Given the description of an element on the screen output the (x, y) to click on. 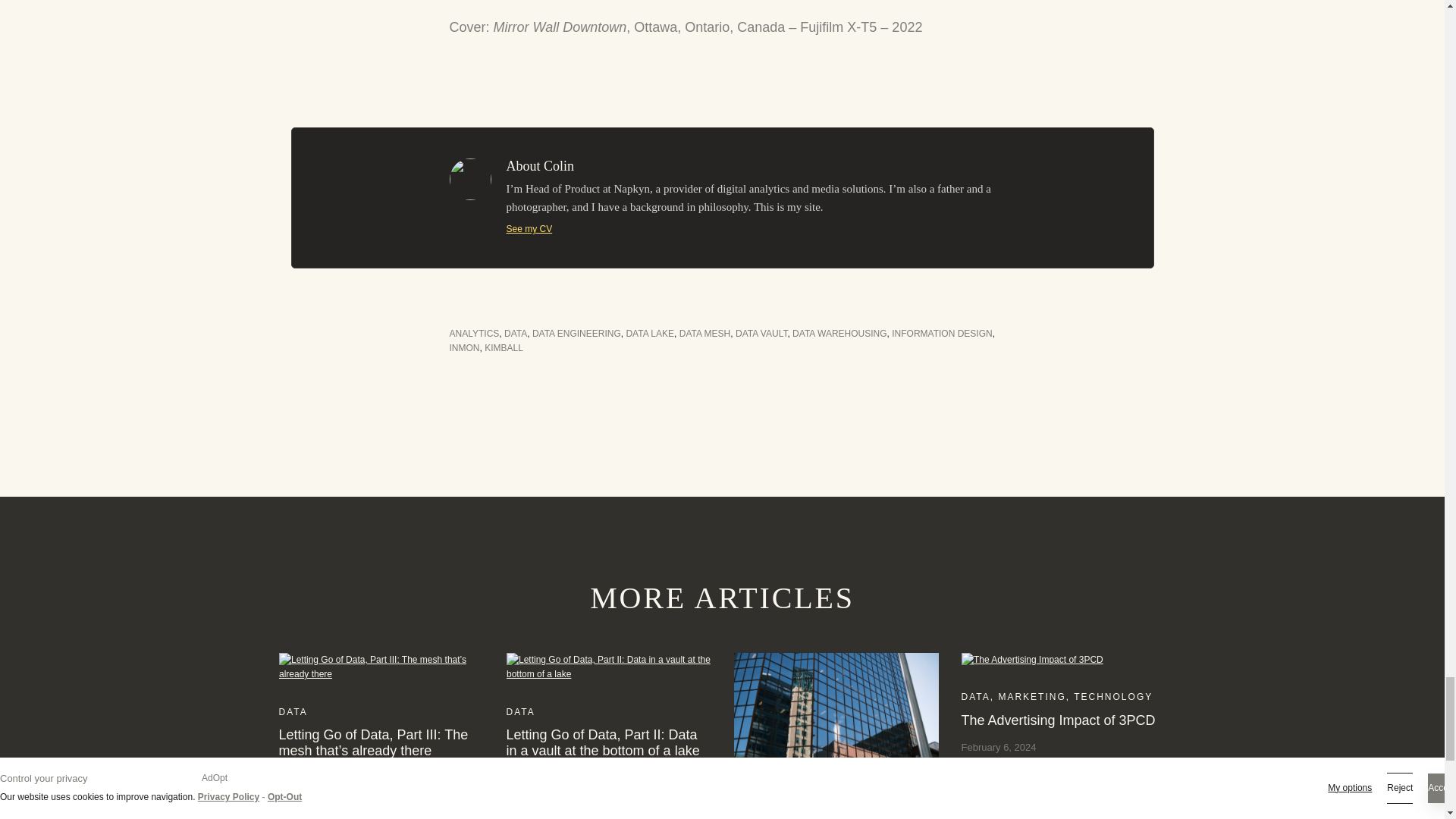
DATA MESH (704, 333)
DATA (515, 333)
DATA (975, 696)
DATA LAKE (650, 333)
DATA ENGINEERING (576, 333)
See my CV (529, 228)
Previous: The Advertising Impact of 3PCD (533, 380)
INMON (463, 347)
KIMBALL (503, 347)
ANALYTICS (473, 333)
DATA WAREHOUSING (839, 333)
DATA (520, 711)
DATA VAULT (761, 333)
